Given the description of an element on the screen output the (x, y) to click on. 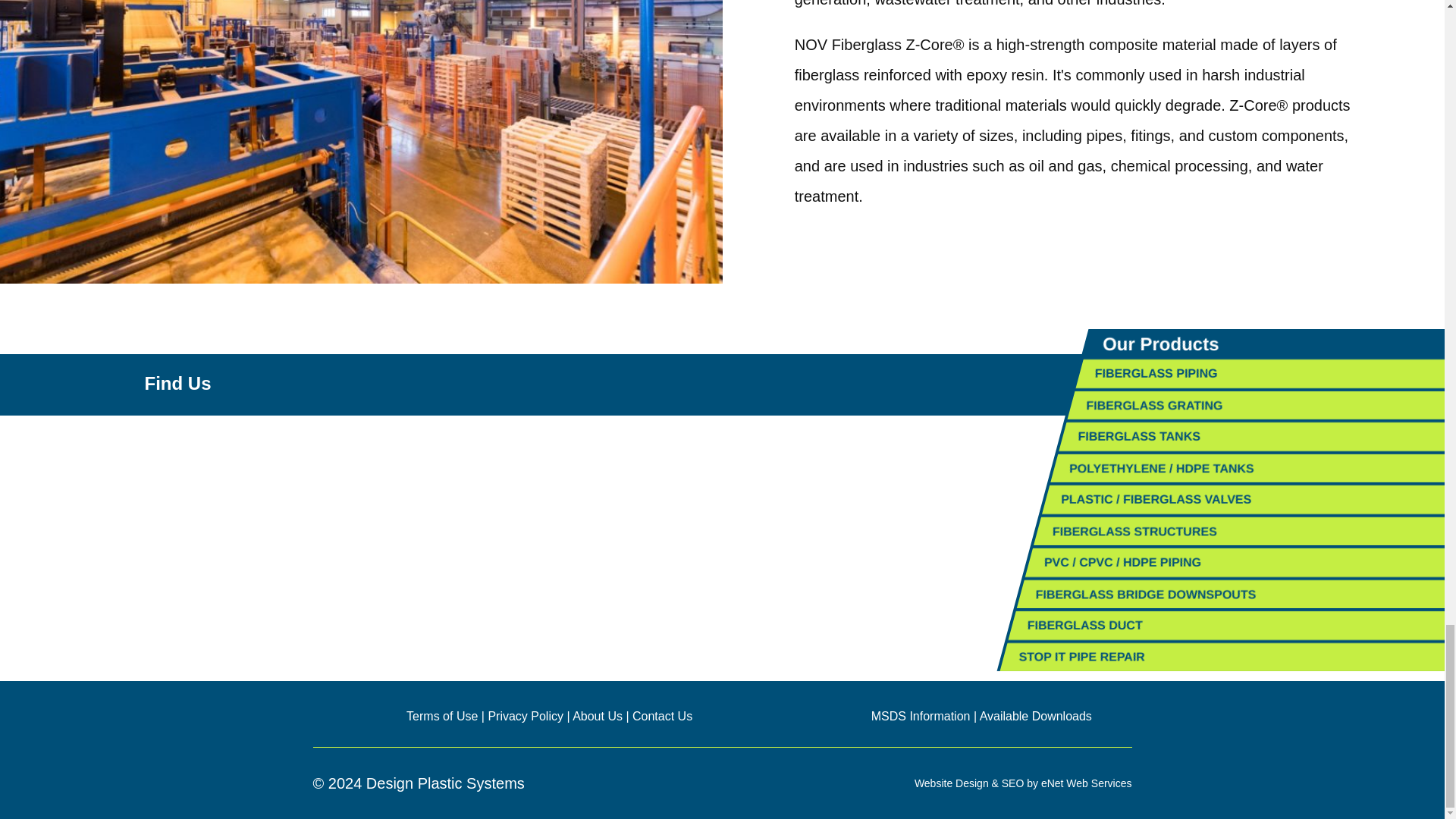
MSDS Information (920, 716)
Terms of Use (441, 716)
Privacy Policy (525, 716)
Contact Us (662, 716)
Available Downloads (1035, 716)
About Us (597, 716)
